Given the description of an element on the screen output the (x, y) to click on. 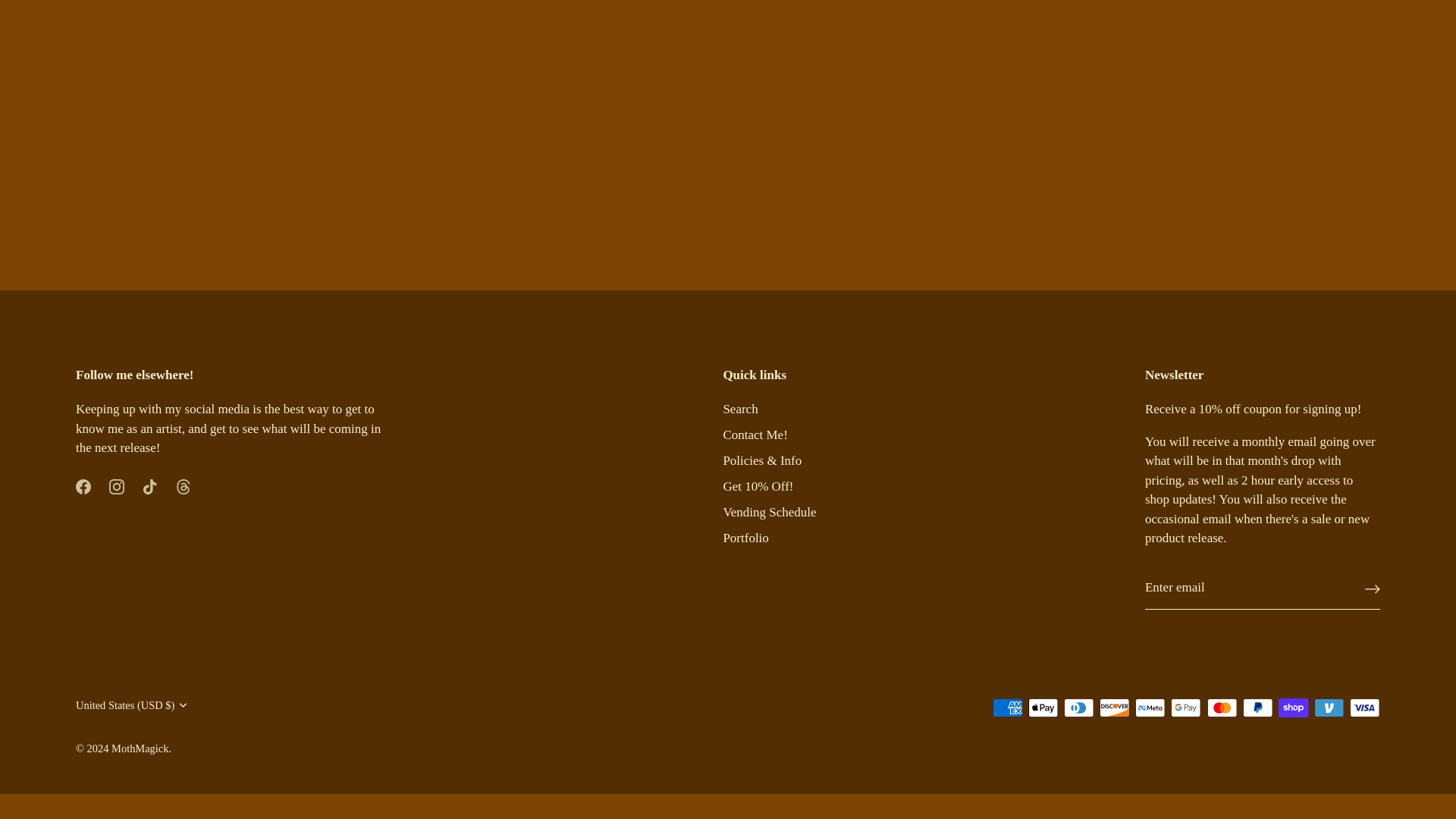
Mastercard (1222, 707)
Apple Pay (1042, 707)
Discover (1114, 707)
Meta Pay (1149, 707)
American Express (1007, 707)
Visa (1364, 707)
Diners Club (1078, 707)
Right arrow long (1372, 588)
Shop Pay (1293, 707)
Google Pay (1185, 707)
